Given the description of an element on the screen output the (x, y) to click on. 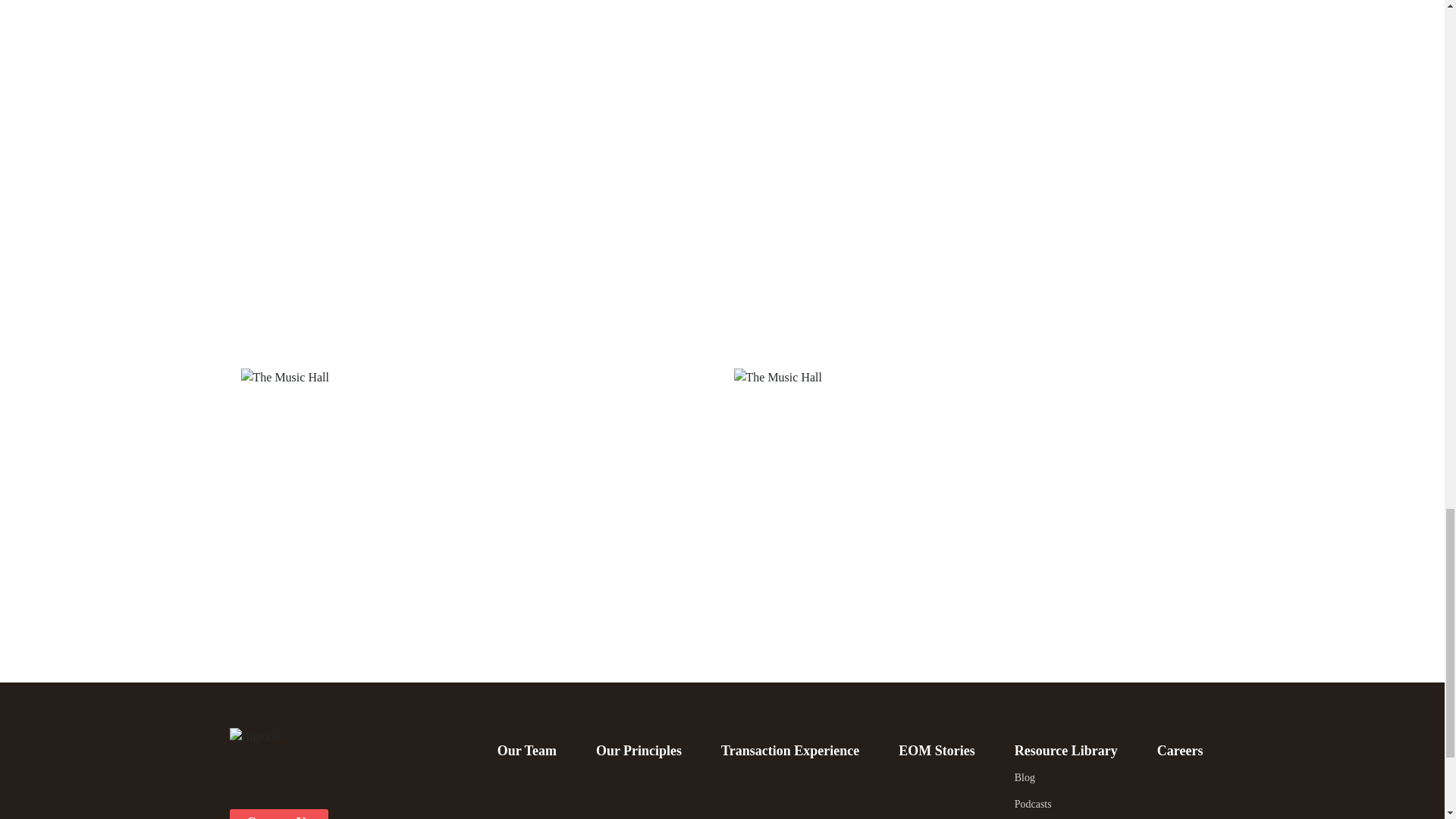
Transaction Experience (789, 750)
Our Principles (638, 750)
Our Team (526, 750)
Resource Library (1066, 750)
Blog (1071, 777)
EOM Stories (936, 750)
Careers (1179, 750)
Contact Us (278, 814)
